Given the description of an element on the screen output the (x, y) to click on. 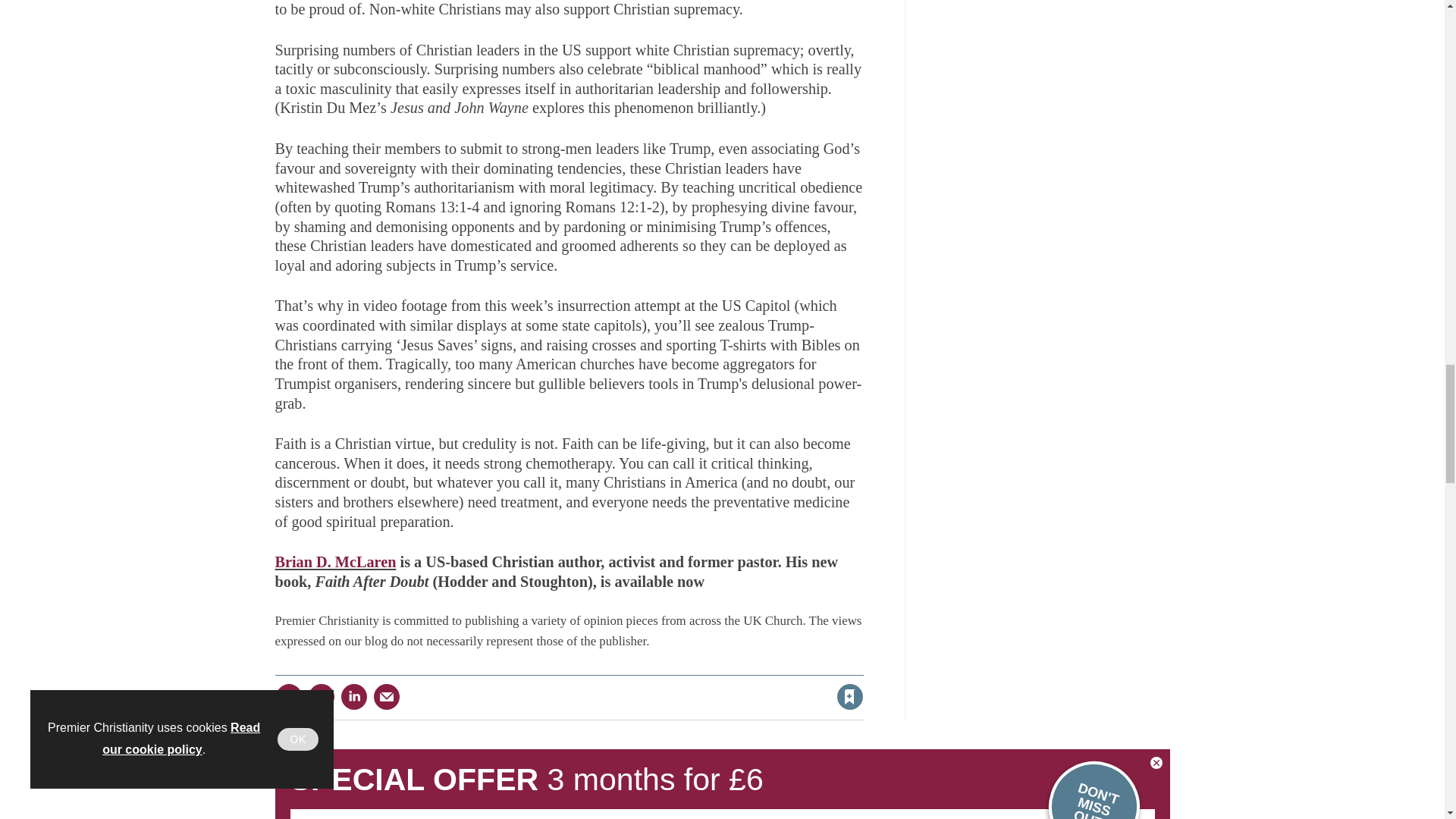
Share this on Twitter (320, 696)
Email this article (386, 696)
Share this on Linked in (352, 696)
Share this on Facebook (288, 696)
